Given the description of an element on the screen output the (x, y) to click on. 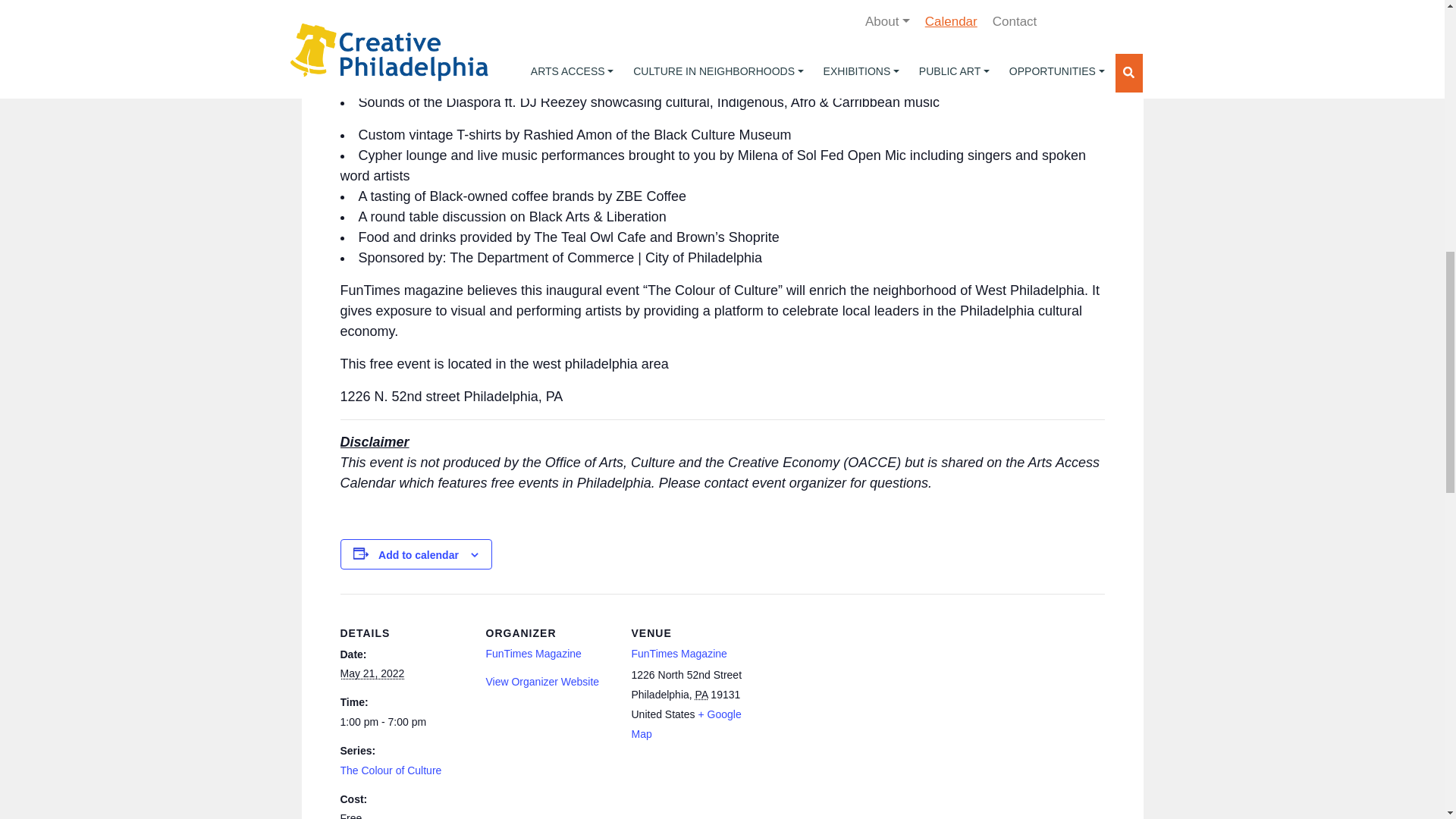
Click to view a Google Map (685, 724)
Pennsylvania (701, 694)
The Colour of Culture (390, 770)
2022-05-21 (371, 673)
2022-05-21 (403, 722)
FunTimes Magazine (532, 653)
